Given the description of an element on the screen output the (x, y) to click on. 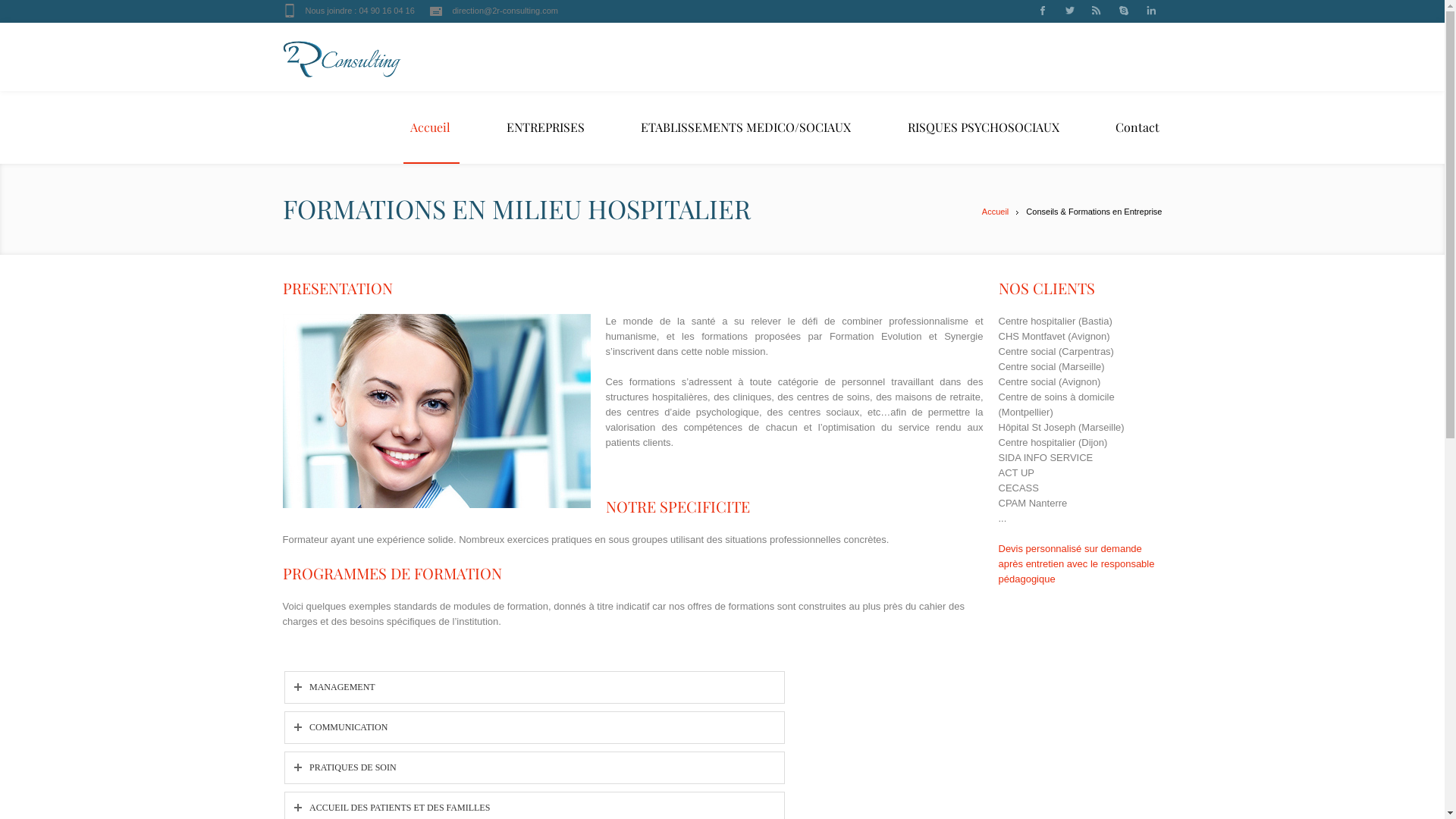
# Element type: hover (1149, 12)
# Element type: hover (1069, 12)
ENTREPRISES Element type: text (545, 126)
Contact Element type: text (1137, 126)
direction@2r-consulting.com Element type: text (504, 10)
ETABLISSEMENTS MEDICO/SOCIAUX Element type: text (745, 126)
Accueil Element type: text (430, 126)
Law Business Element type: hover (366, 58)
# Element type: hover (1041, 12)
RISQUES PSYCHOSOCIAUX Element type: text (983, 126)
Accueil Element type: text (995, 211)
# Element type: hover (1122, 12)
# Element type: hover (1095, 12)
